Given the description of an element on the screen output the (x, y) to click on. 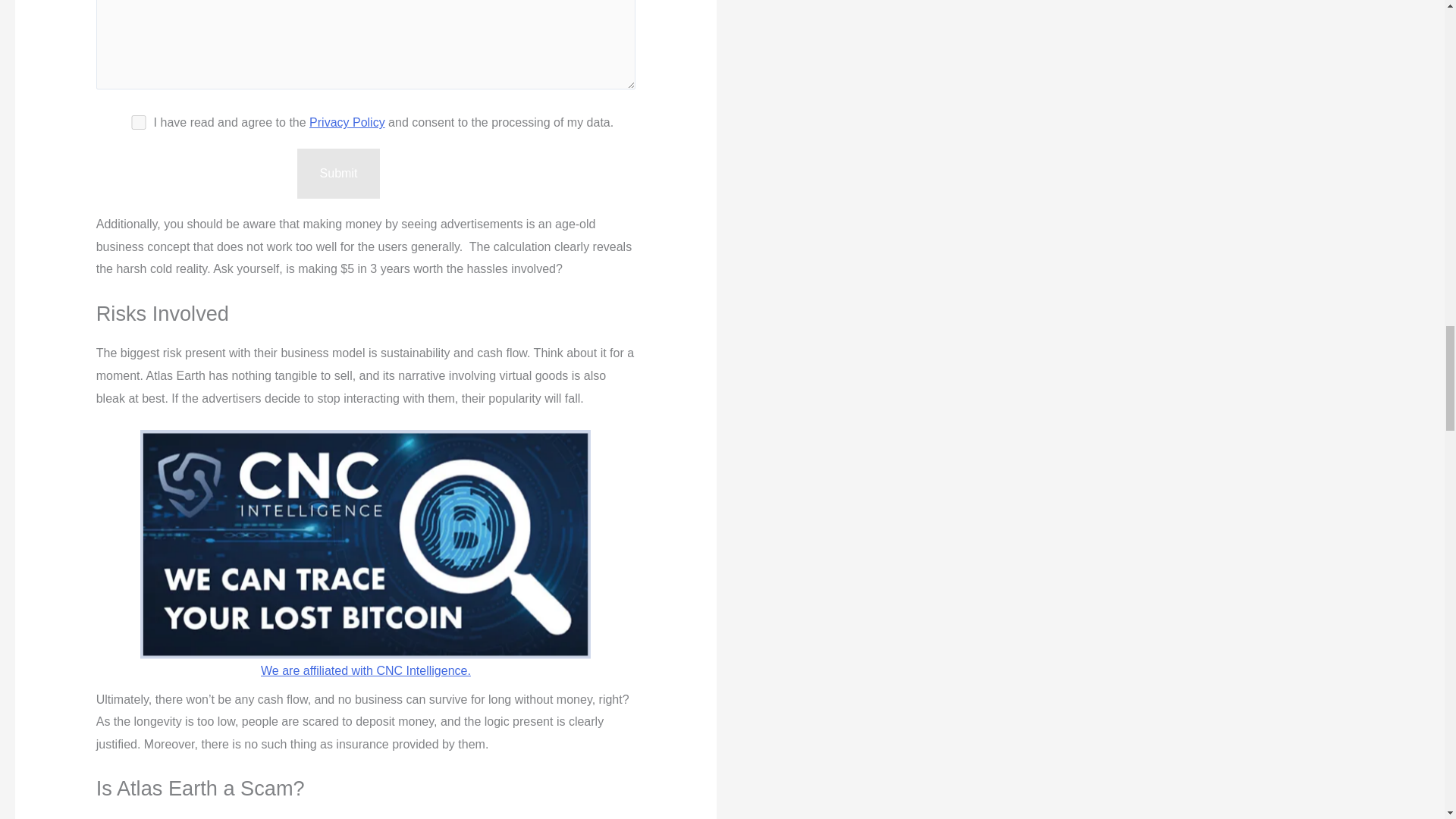
Submit (338, 173)
Privacy Policy (346, 122)
Submit (338, 173)
1 (139, 122)
